Given the description of an element on the screen output the (x, y) to click on. 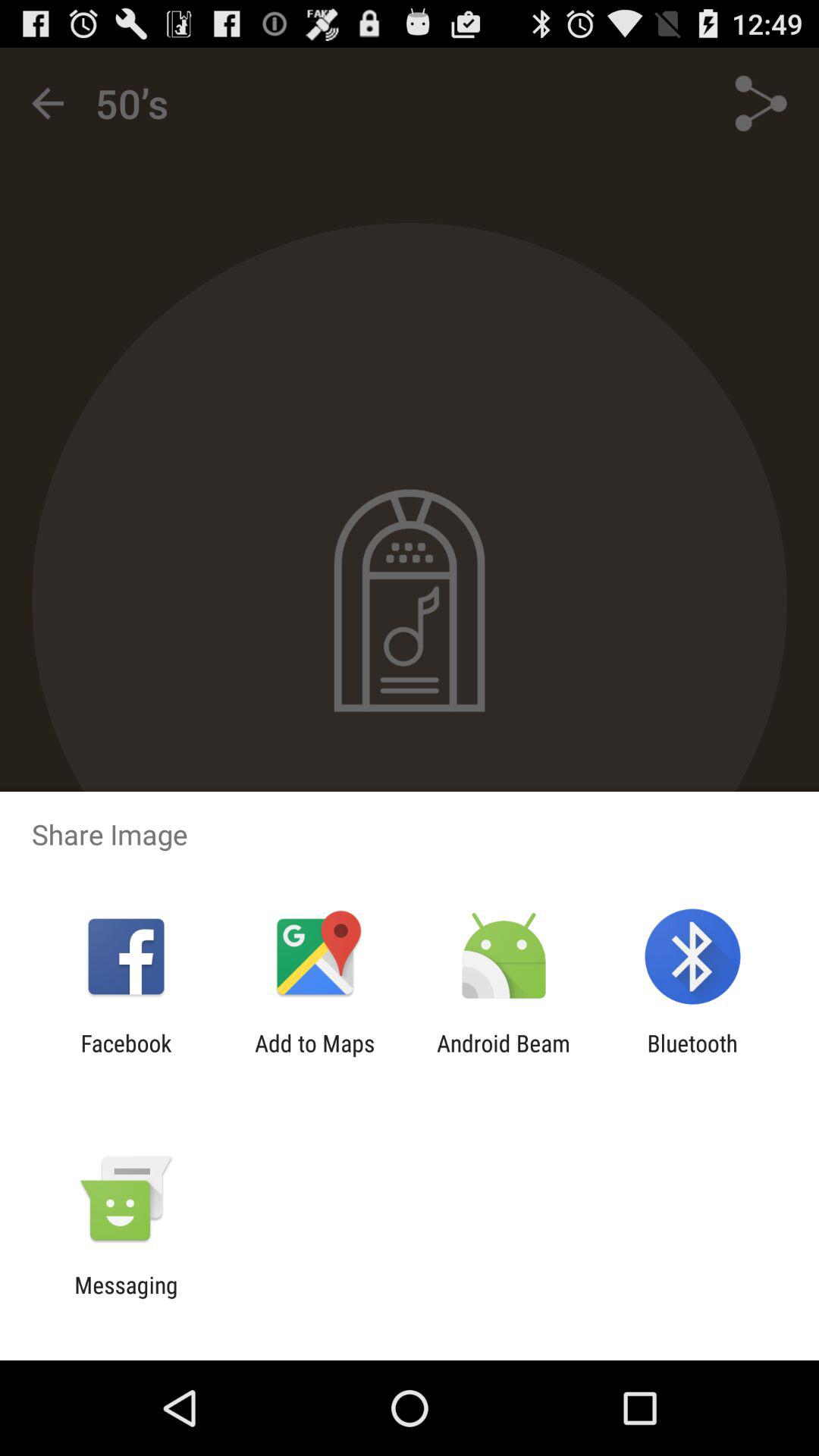
click the item next to android beam (314, 1056)
